Given the description of an element on the screen output the (x, y) to click on. 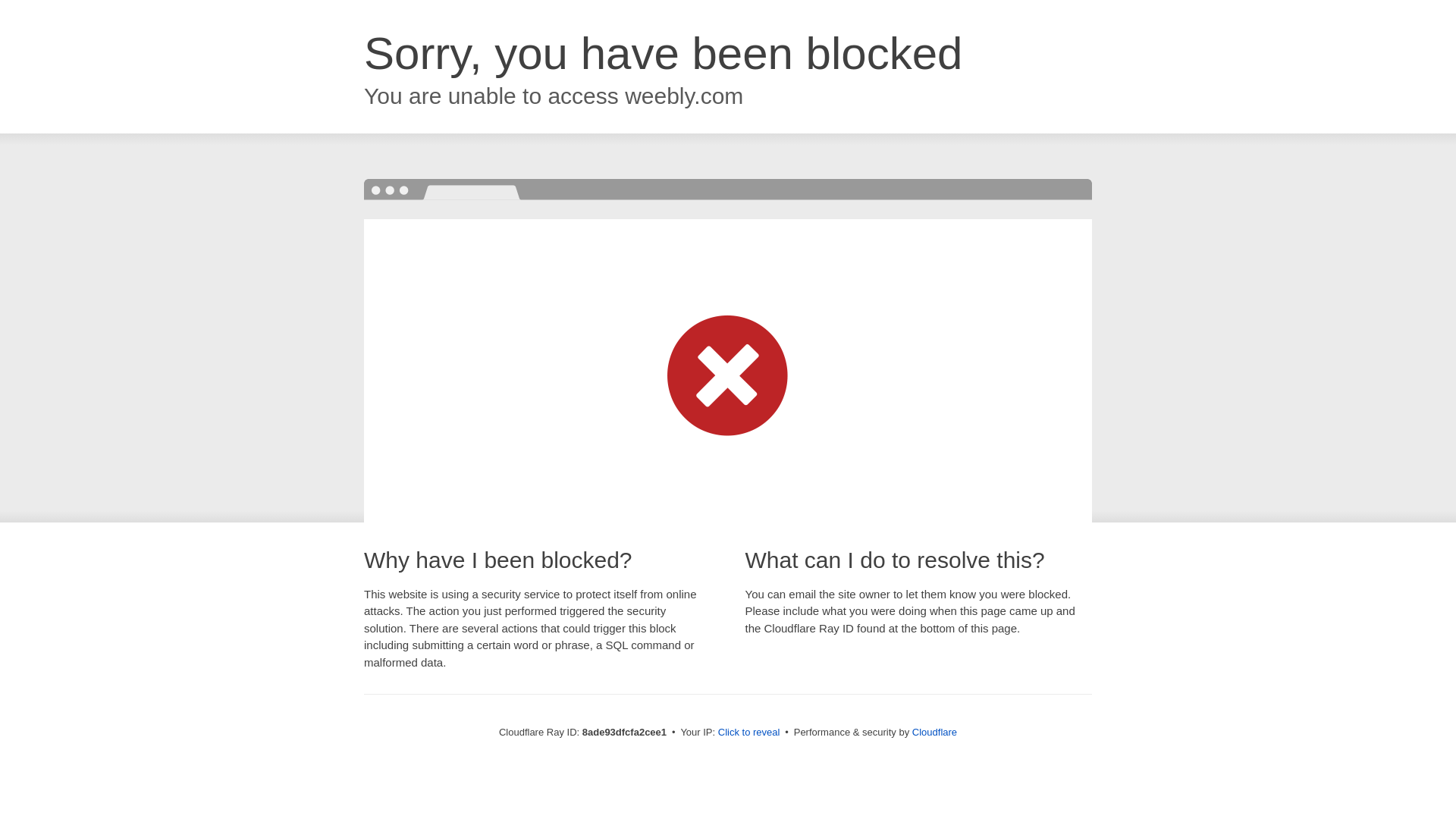
Cloudflare (934, 731)
Click to reveal (748, 732)
